Given the description of an element on the screen output the (x, y) to click on. 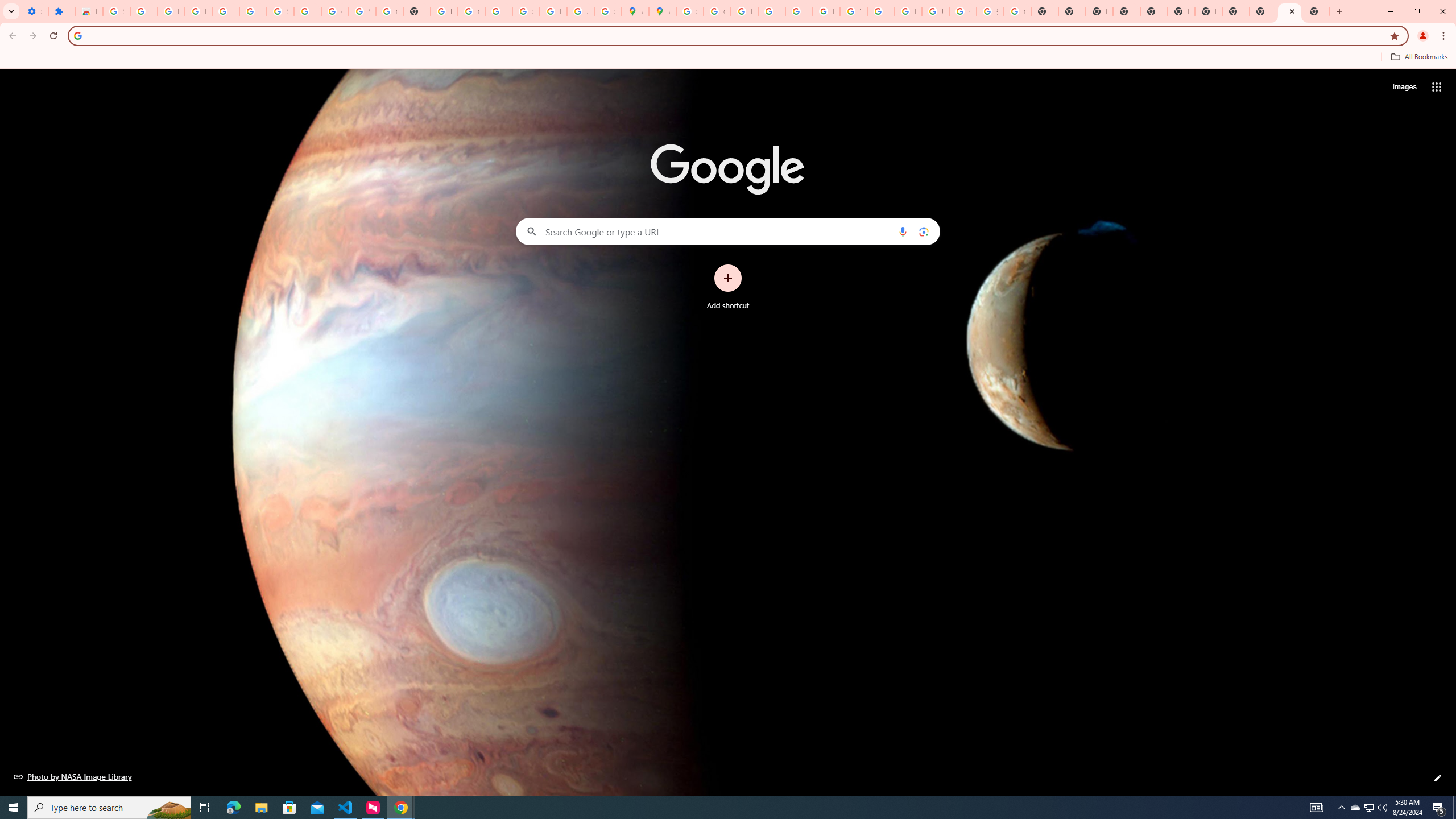
Sign in - Google Accounts (690, 11)
